Given the description of an element on the screen output the (x, y) to click on. 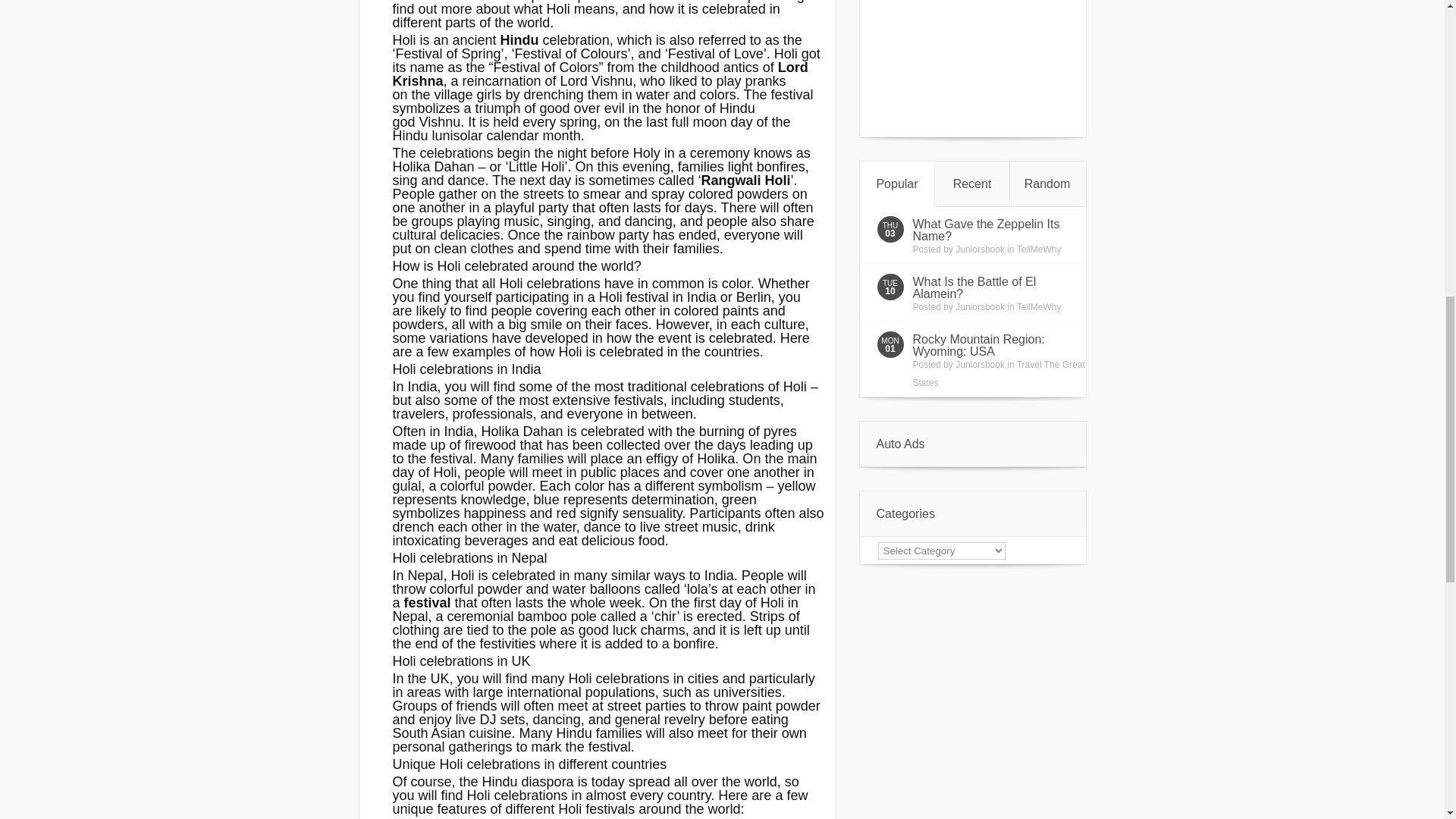
Posts by Juniorsbook (979, 307)
Posts by Juniorsbook (979, 364)
Advertisement (972, 68)
Posts by Juniorsbook (979, 249)
